Given the description of an element on the screen output the (x, y) to click on. 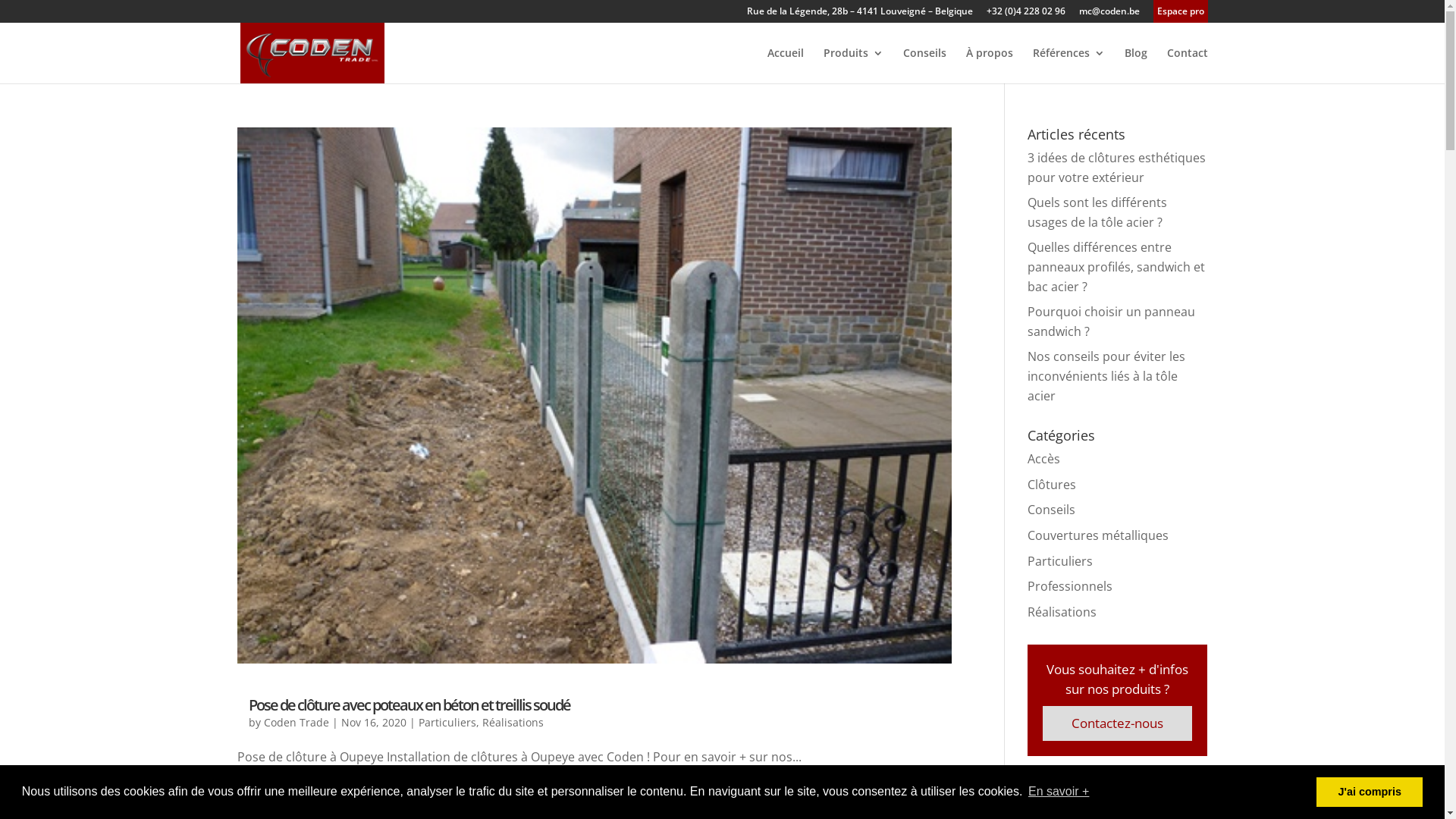
Pourquoi choisir un panneau sandwich ? Element type: text (1111, 321)
Accueil Element type: text (785, 65)
Produits Element type: text (853, 65)
+32 (0)4 228 02 96 Element type: text (1024, 14)
mc@coden.be Element type: text (1108, 14)
Professionnels Element type: text (1069, 585)
J'ai compris Element type: text (1369, 791)
Contactez-nous Element type: text (1117, 722)
Conseils Element type: text (1051, 509)
Particuliers Element type: text (447, 722)
Particuliers Element type: text (1059, 560)
Contact Element type: text (1186, 65)
En savoir + Element type: text (1059, 791)
Conseils Element type: text (923, 65)
Espace pro Element type: text (1180, 14)
Blog Element type: text (1134, 65)
Coden Trade Element type: text (296, 722)
